Given the description of an element on the screen output the (x, y) to click on. 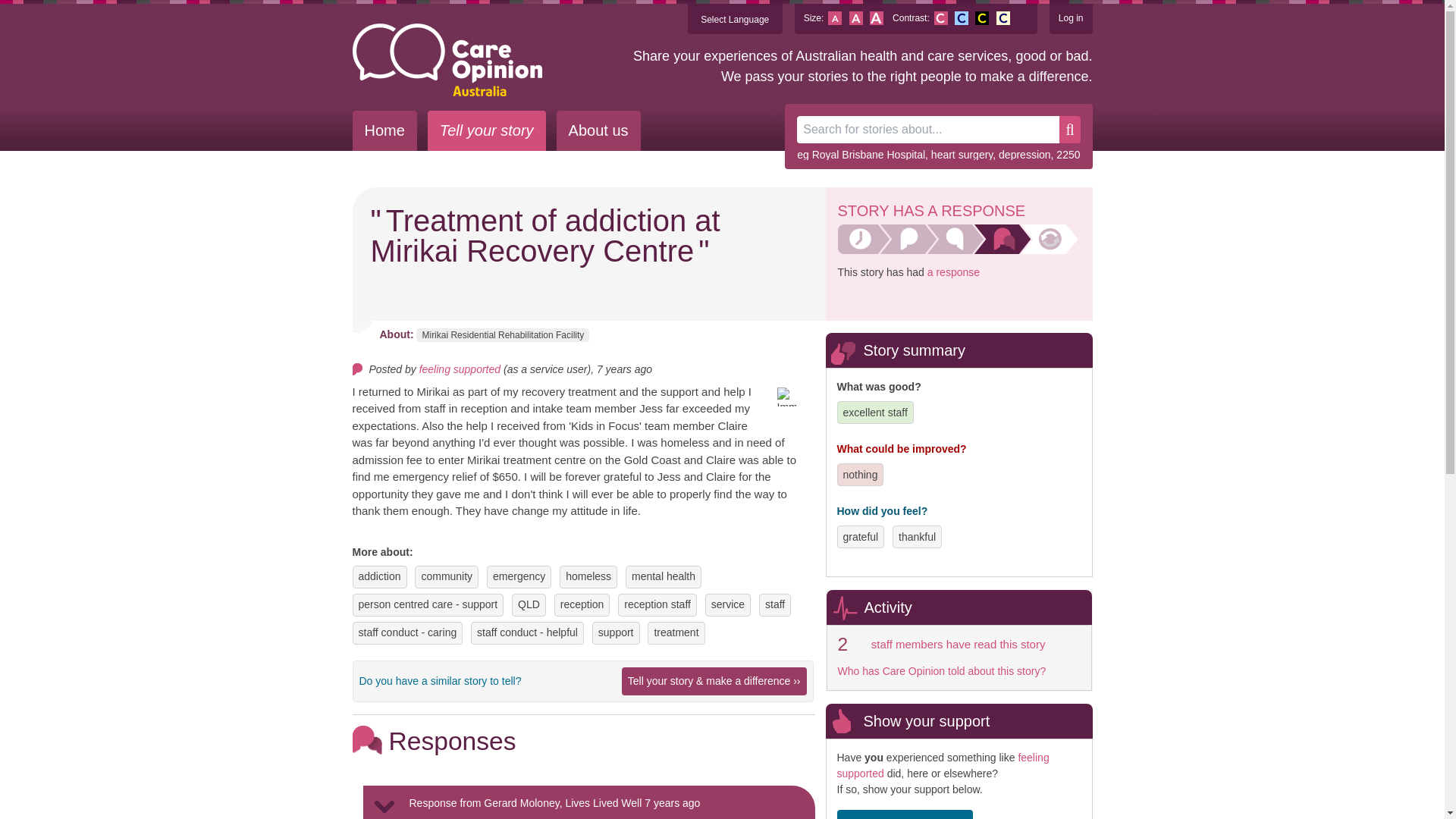
community (445, 576)
highviz (981, 18)
High visibility (981, 18)
Soft (1002, 18)
soft (1002, 18)
Larger (876, 18)
staff (774, 604)
treatment (675, 632)
mental health (663, 576)
Tell your story (487, 130)
Blue (961, 18)
Log in (1070, 18)
reception staff (657, 604)
person centred care - support (427, 604)
service (727, 604)
